Given the description of an element on the screen output the (x, y) to click on. 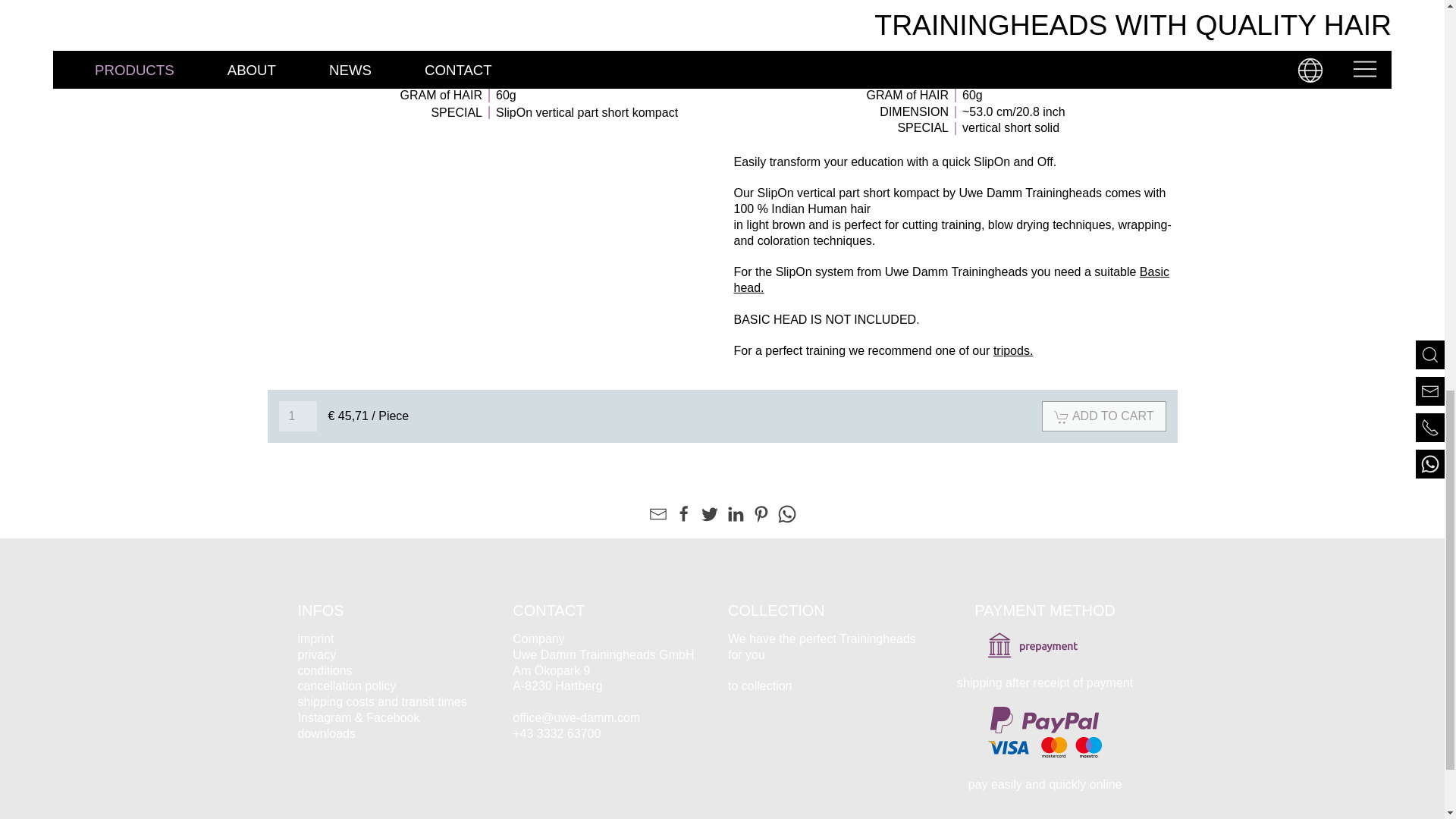
tripods. (1012, 350)
Basic head. (951, 279)
1 (298, 416)
ADD TO CART (1104, 416)
